Given the description of an element on the screen output the (x, y) to click on. 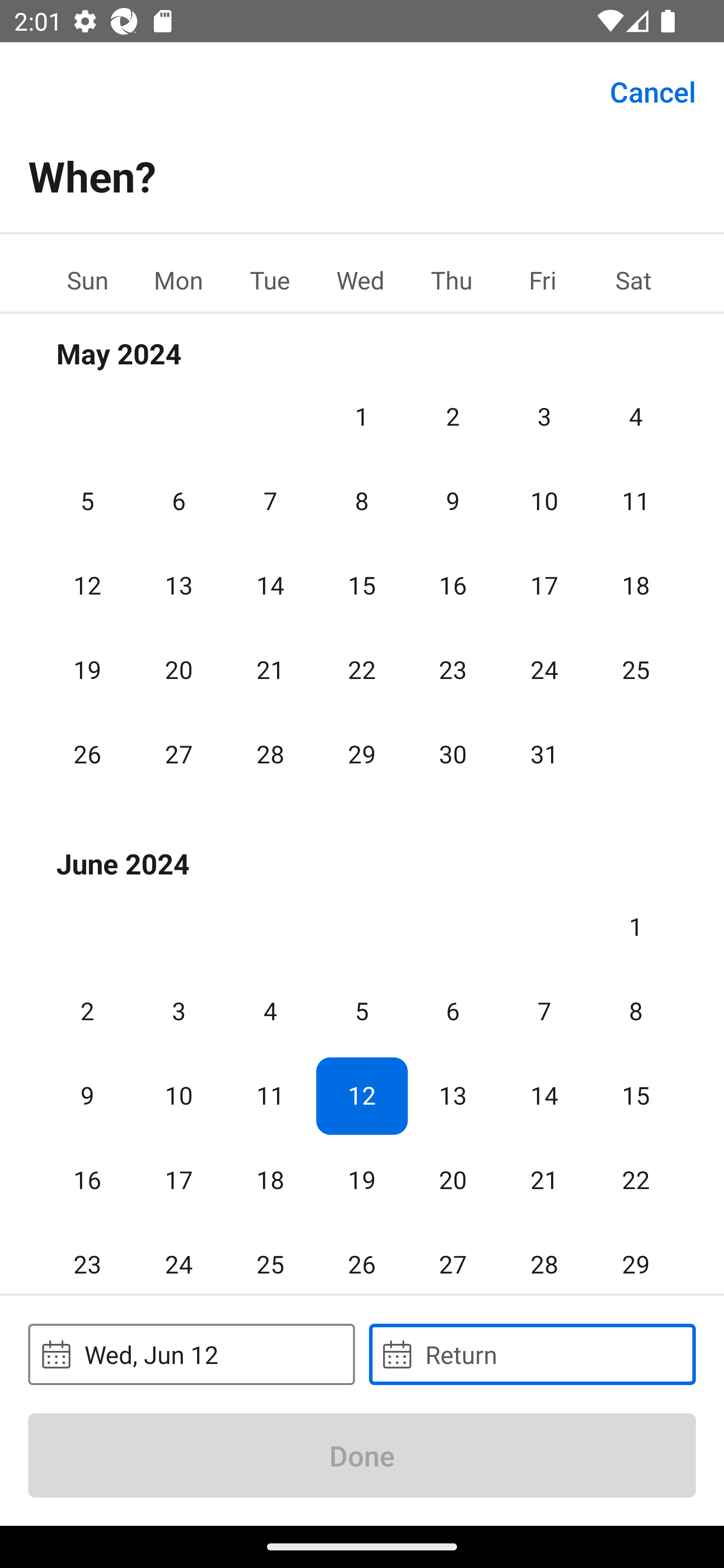
Cancel (652, 90)
Wed, Jun 12 (191, 1353)
Return (532, 1353)
Done (361, 1454)
